Given the description of an element on the screen output the (x, y) to click on. 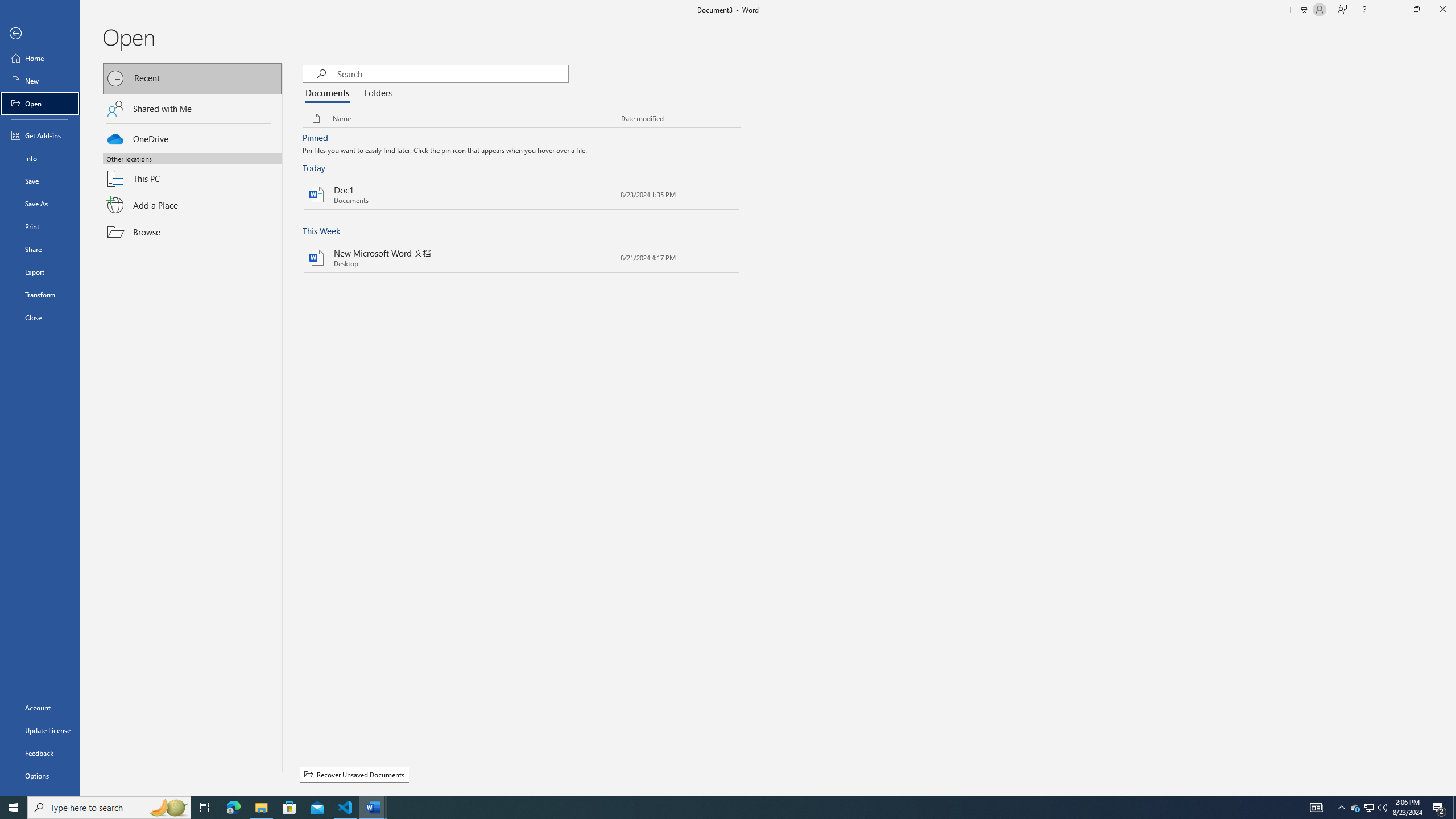
OneDrive (192, 136)
Export (40, 271)
Account (40, 707)
Print (40, 225)
Pin this item to the list (602, 257)
Browse (192, 231)
Get Add-ins (40, 134)
Save As (40, 203)
Transform (40, 294)
Back (40, 33)
